Given the description of an element on the screen output the (x, y) to click on. 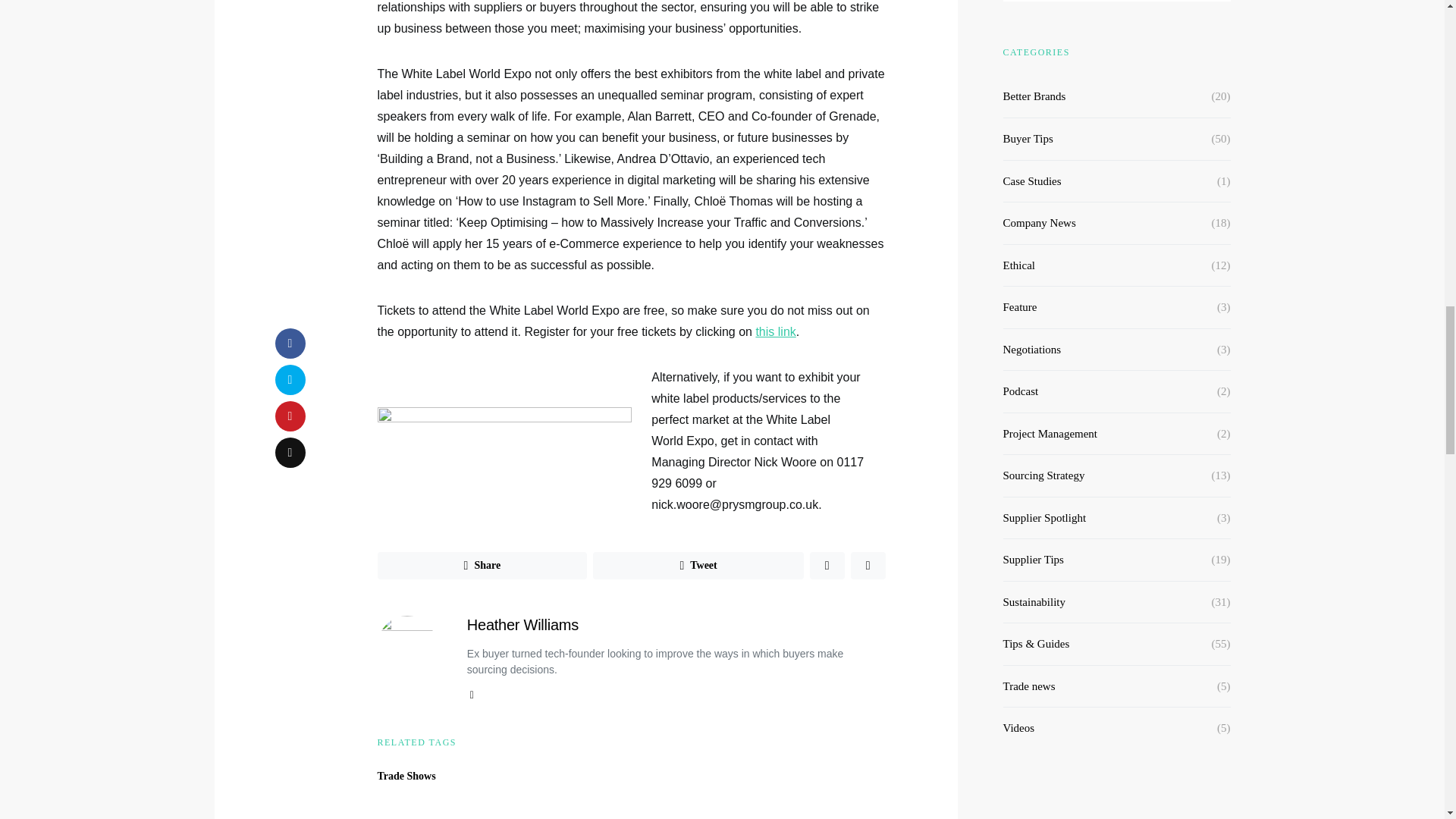
Share (482, 565)
Tweet (697, 565)
this link (774, 331)
